Given the description of an element on the screen output the (x, y) to click on. 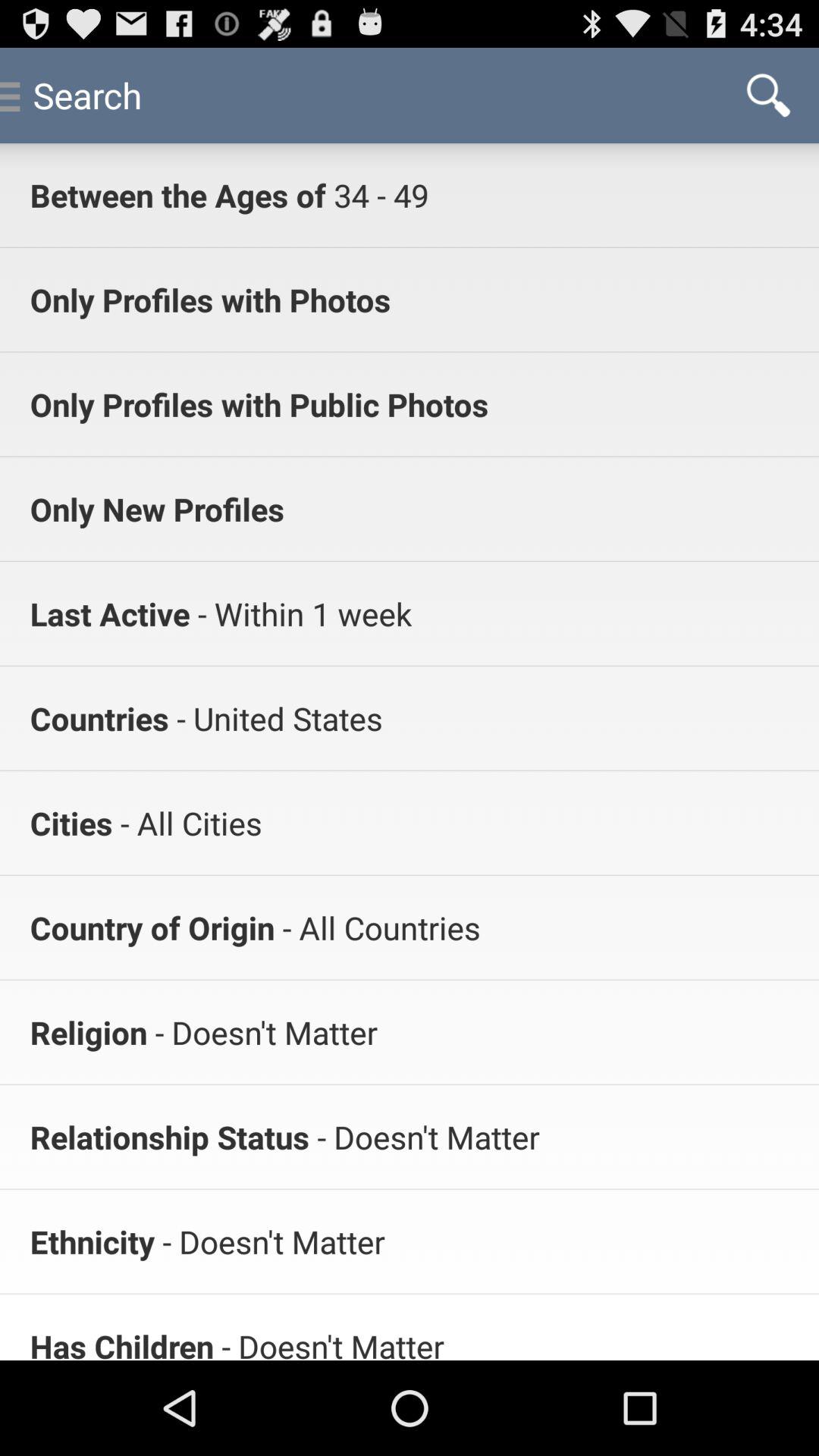
flip to the has children (121, 1342)
